Given the description of an element on the screen output the (x, y) to click on. 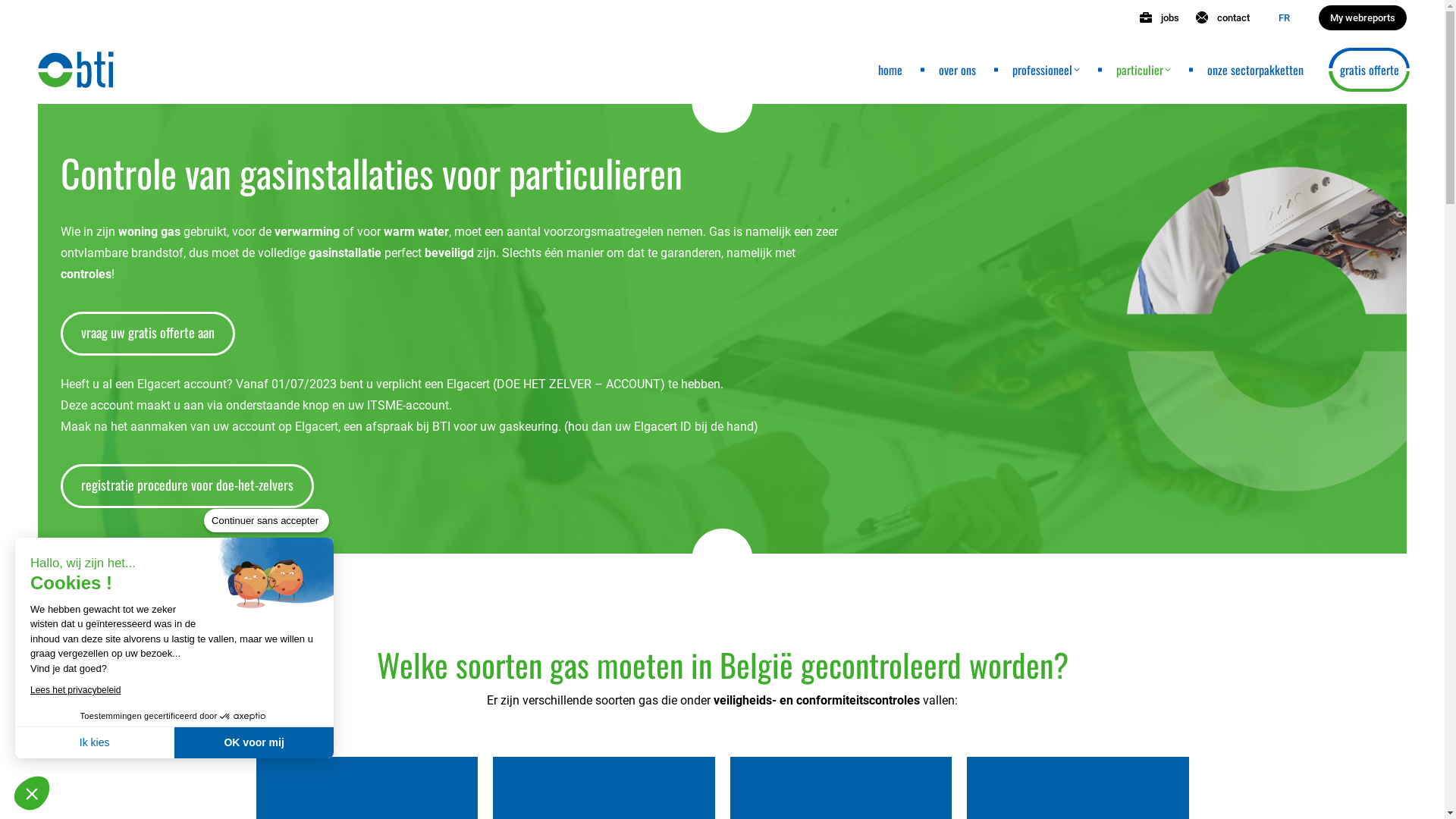
contact Element type: text (1221, 17)
vraag uw gratis offerte aan Element type: text (147, 333)
onze sectorpakketten Element type: text (1255, 69)
My webreports Element type: text (1362, 17)
over ons Element type: text (957, 69)
particulier Element type: text (1143, 69)
FR Element type: text (1283, 17)
professioneel Element type: text (1045, 69)
jobs Element type: text (1158, 17)
registratie procedure voor doe-het-zelvers Element type: text (186, 486)
part-gaz Element type: hover (1265, 329)
home Element type: text (890, 69)
gratis offerte Element type: text (1369, 69)
